Given the description of an element on the screen output the (x, y) to click on. 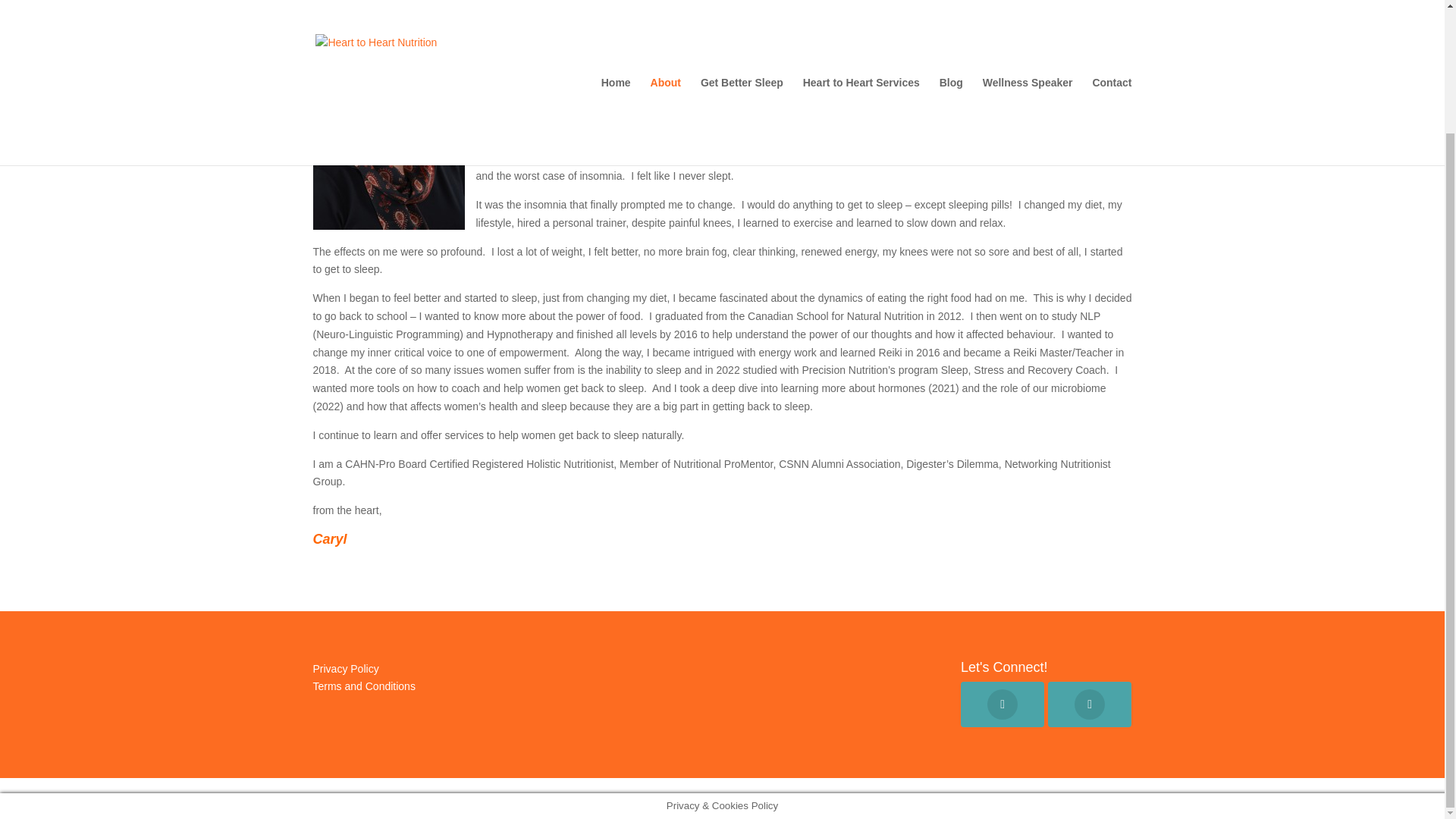
Privacy Policy (345, 668)
Blog (950, 8)
Wellness Speaker (1027, 8)
Heart to Heart Services (861, 8)
Home (615, 8)
About (665, 8)
Get Better Sleep (741, 8)
Terms and Conditions (363, 686)
Contact (1111, 8)
